Given the description of an element on the screen output the (x, y) to click on. 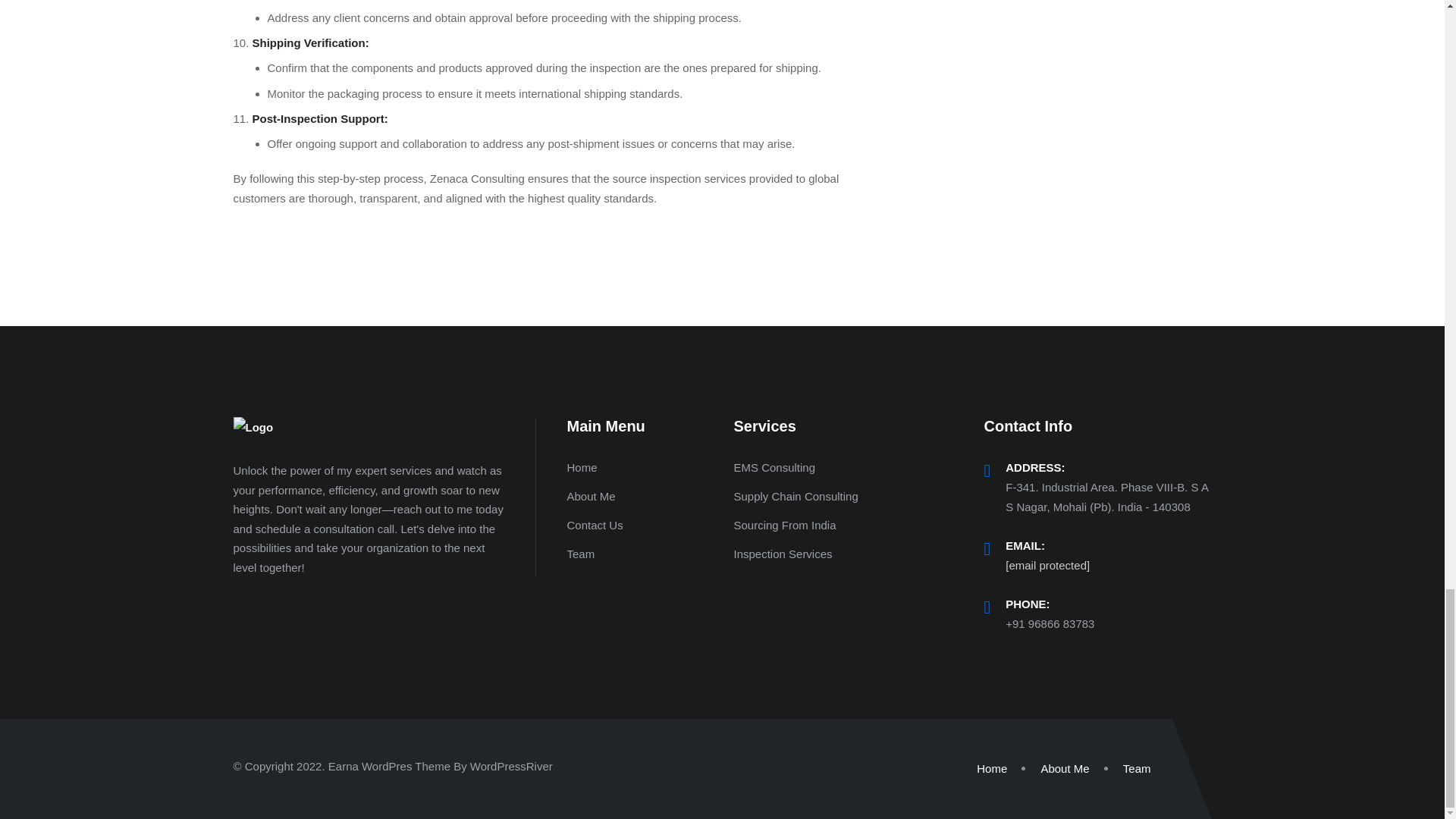
Home (581, 467)
Home (991, 768)
About Me (1065, 768)
Inspection Services (782, 553)
Sourcing From India (784, 524)
Team (1136, 768)
EMS Consulting (774, 467)
Supply Chain Consulting (795, 495)
About Me (590, 495)
Contact Us (594, 524)
